Given the description of an element on the screen output the (x, y) to click on. 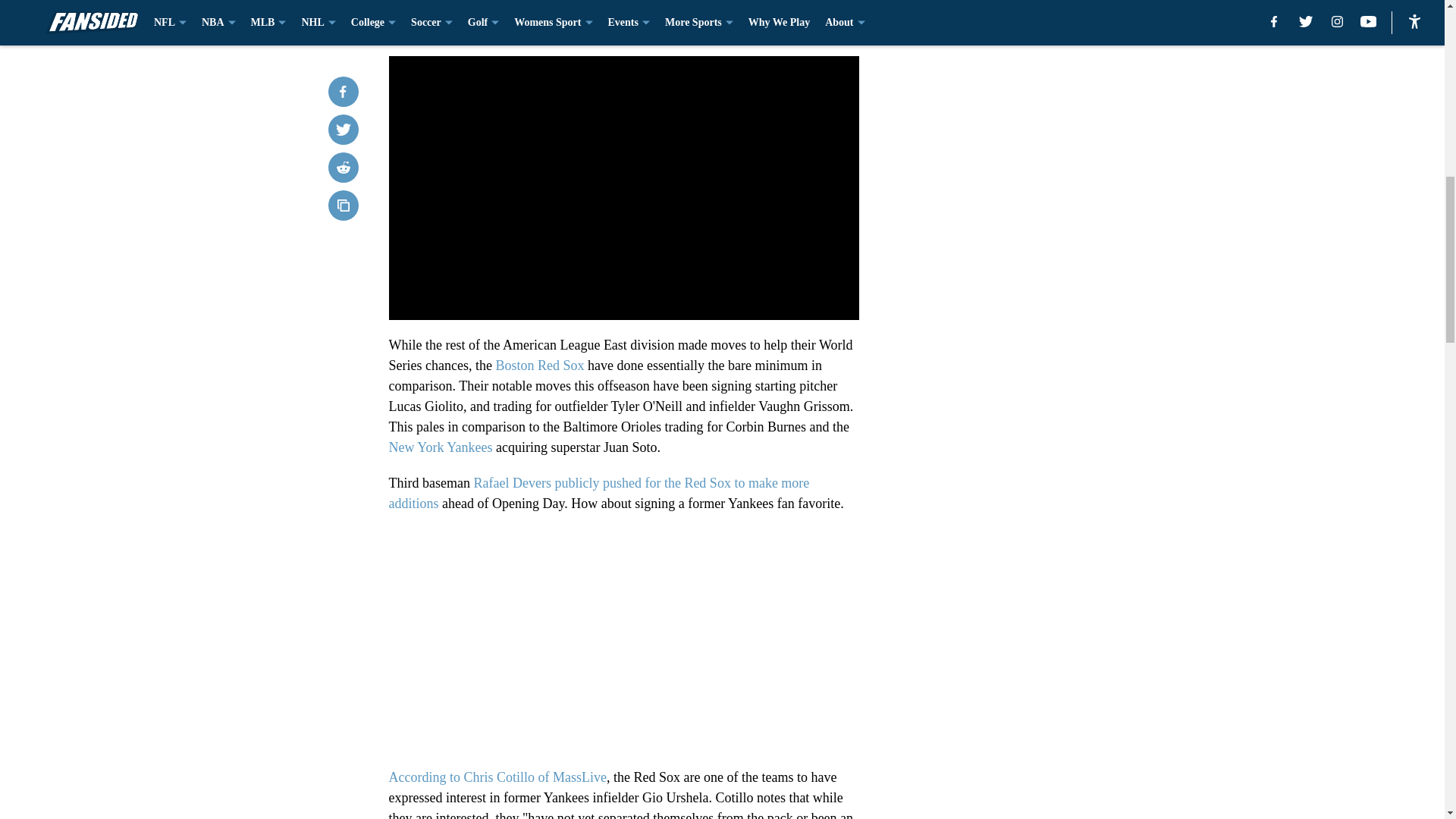
3rd party ad content (1047, 371)
3rd party ad content (1047, 150)
